Given the description of an element on the screen output the (x, y) to click on. 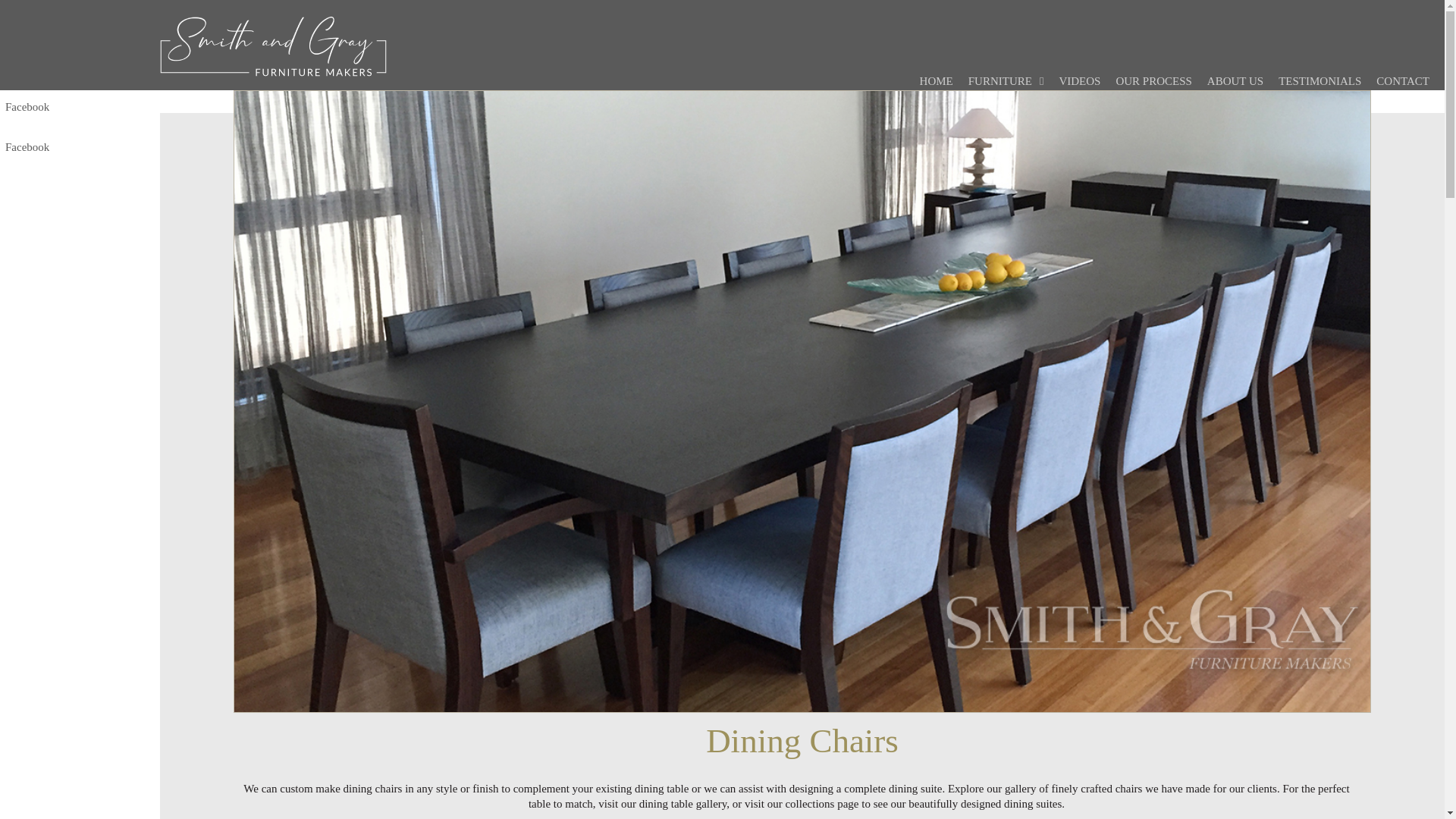
ABOUT US (1242, 81)
Facebook (80, 107)
Facebook (80, 147)
HOME (944, 81)
TESTIMONIALS (1326, 81)
VIDEOS (1086, 81)
OUR PROCESS (1161, 81)
FURNITURE (1013, 81)
